Given the description of an element on the screen output the (x, y) to click on. 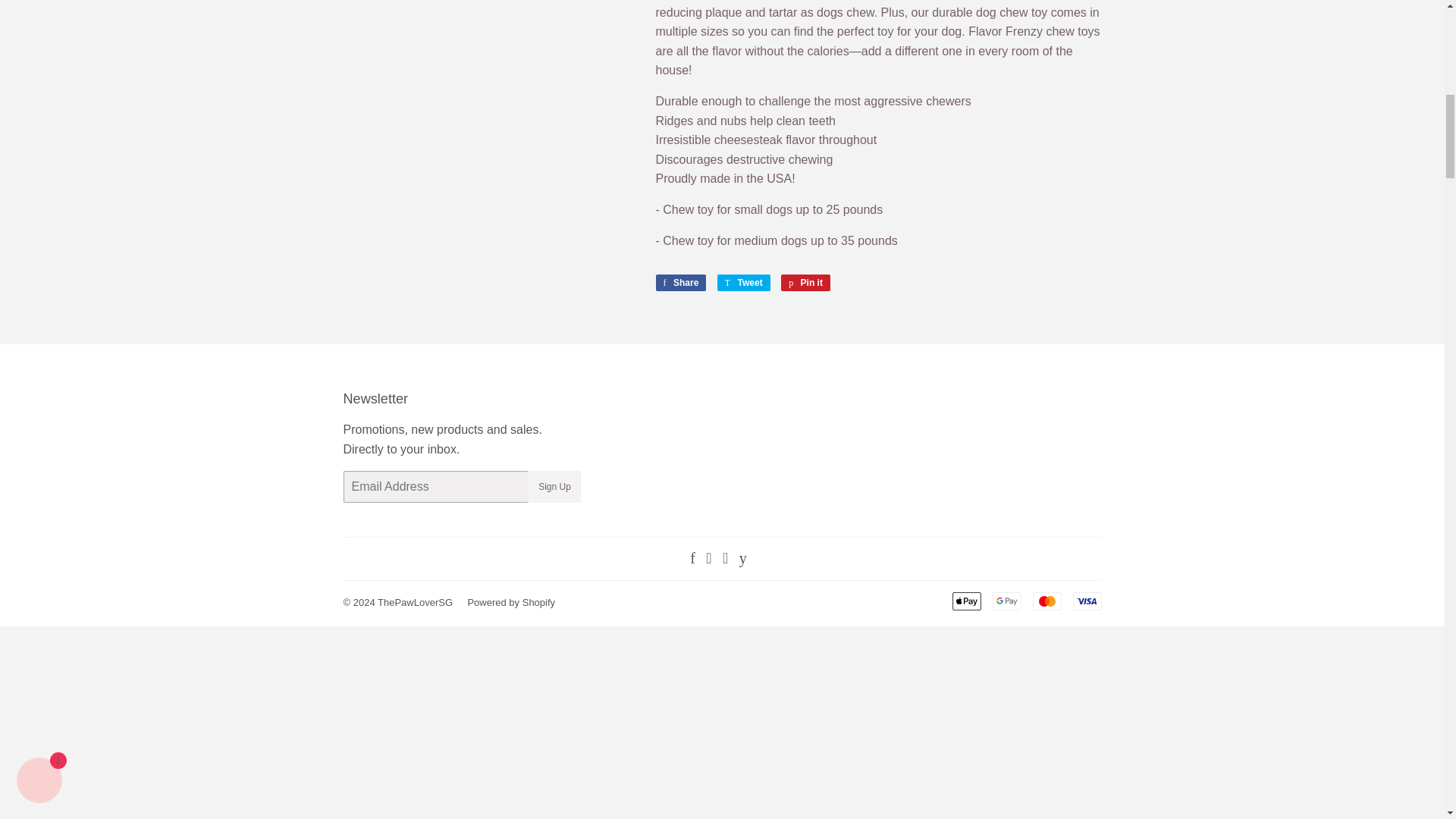
Mastercard (1046, 601)
Pin on Pinterest (804, 282)
Google Pay (1005, 601)
Share on Facebook (680, 282)
Apple Pay (966, 601)
Visa (1085, 601)
Tweet on Twitter (743, 282)
